Given the description of an element on the screen output the (x, y) to click on. 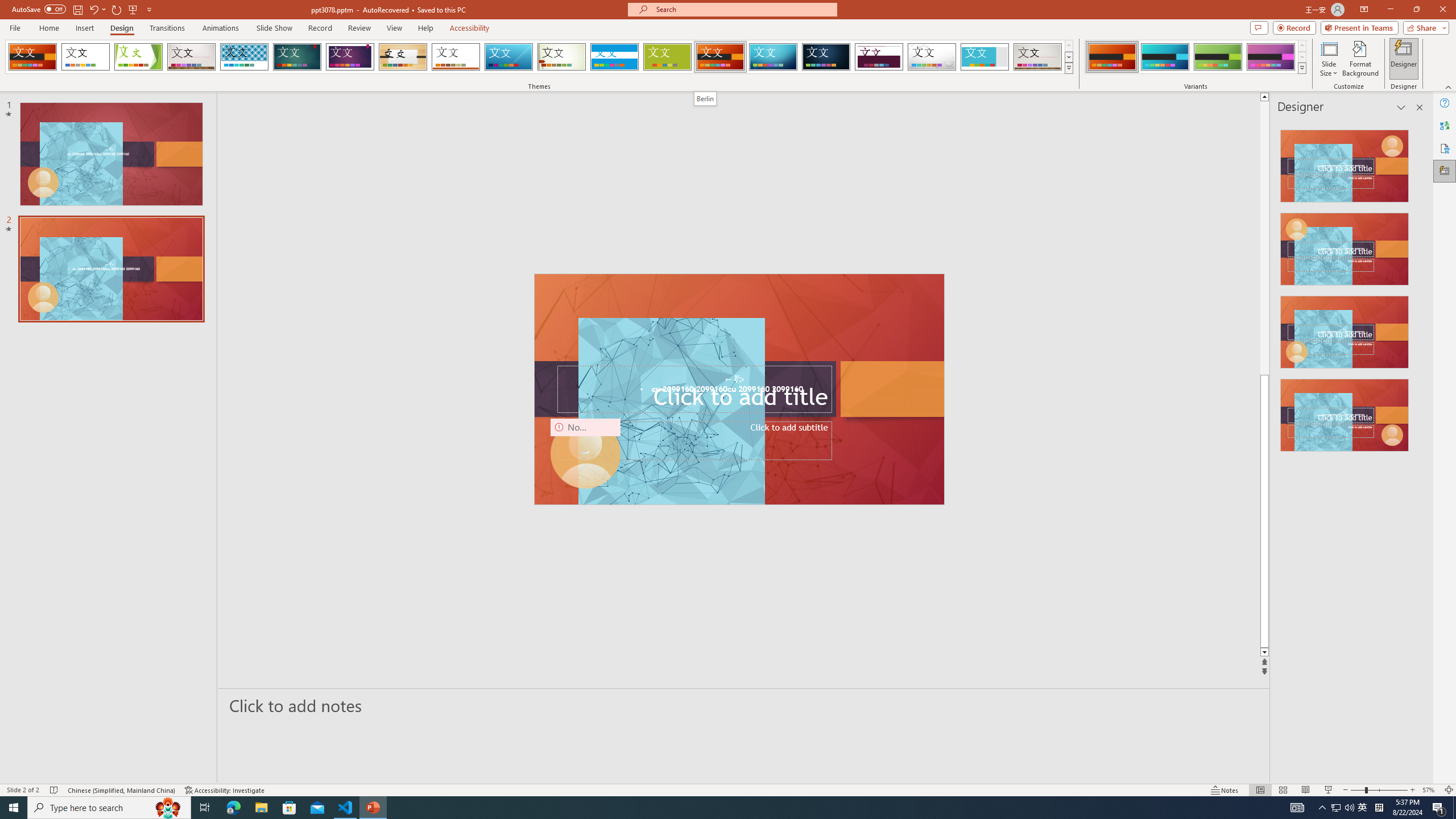
AutomationID: ThemeVariantsGallery (1195, 56)
Variants (1301, 67)
Berlin (720, 56)
